Given the description of an element on the screen output the (x, y) to click on. 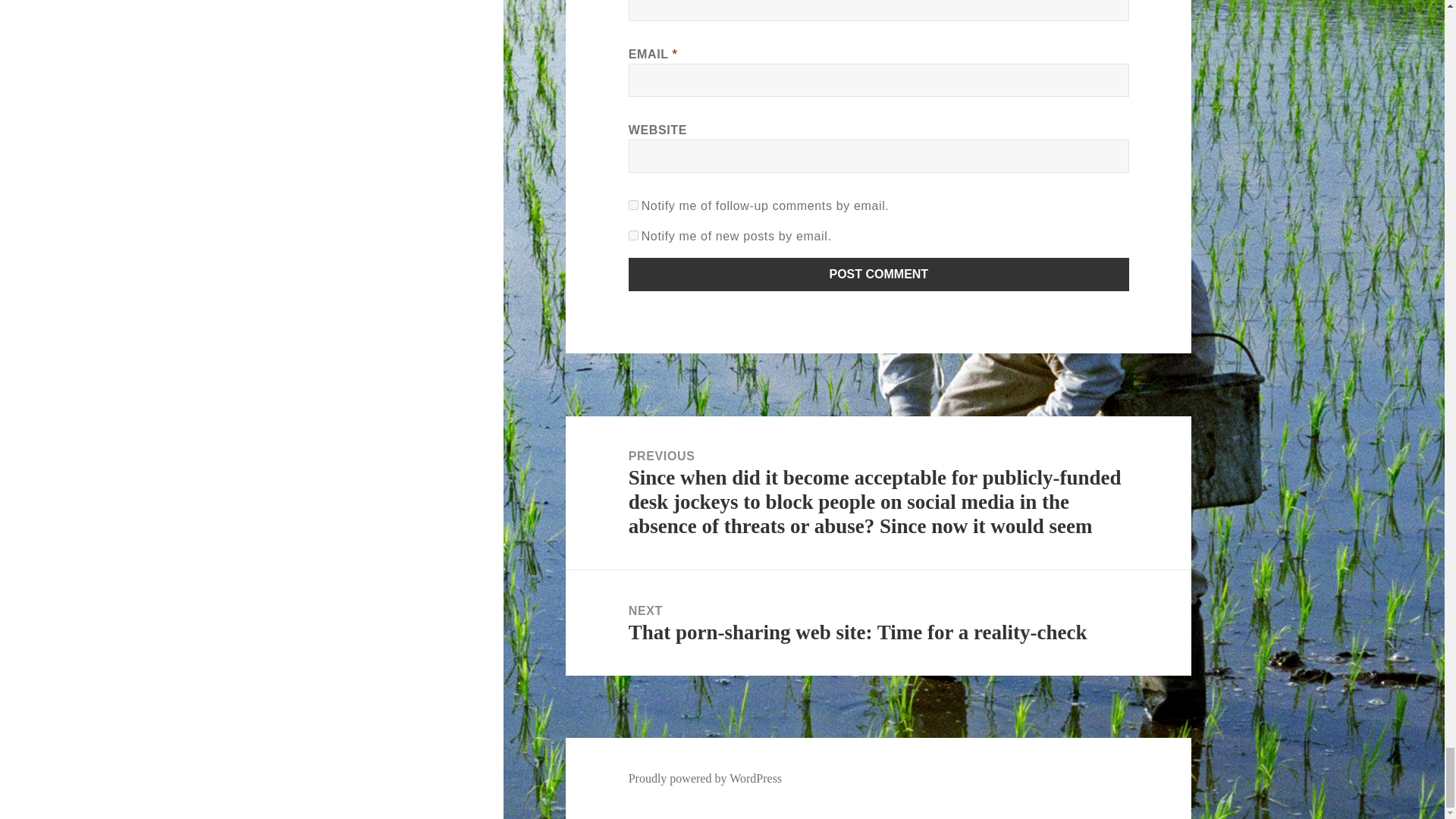
Post Comment (878, 274)
subscribe (633, 204)
subscribe (633, 235)
